Given the description of an element on the screen output the (x, y) to click on. 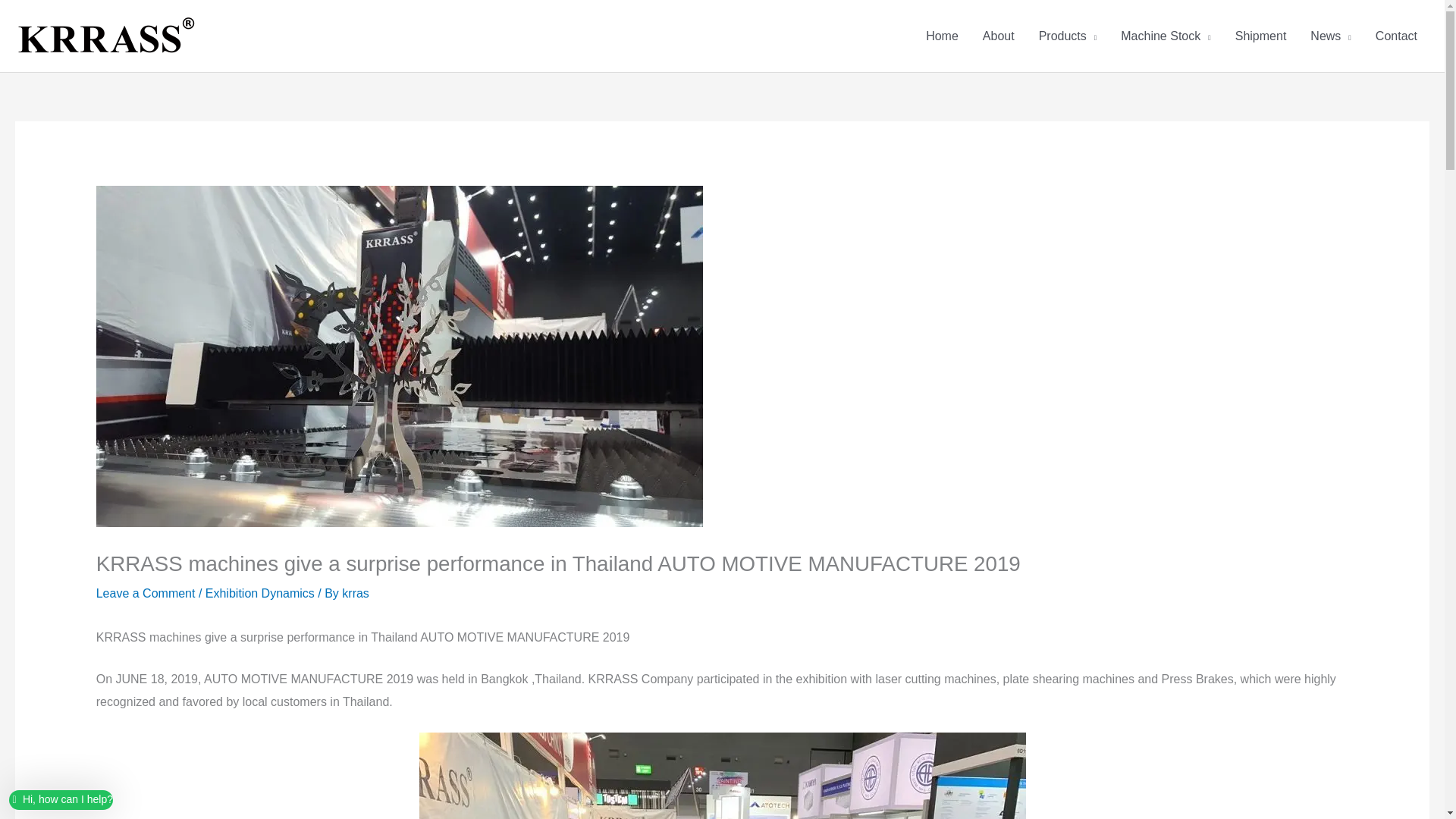
News (1330, 36)
Products (1067, 36)
View all posts by krras (355, 593)
Shipment (1260, 36)
Machine Stock (1165, 36)
Contact (1395, 36)
